Given the description of an element on the screen output the (x, y) to click on. 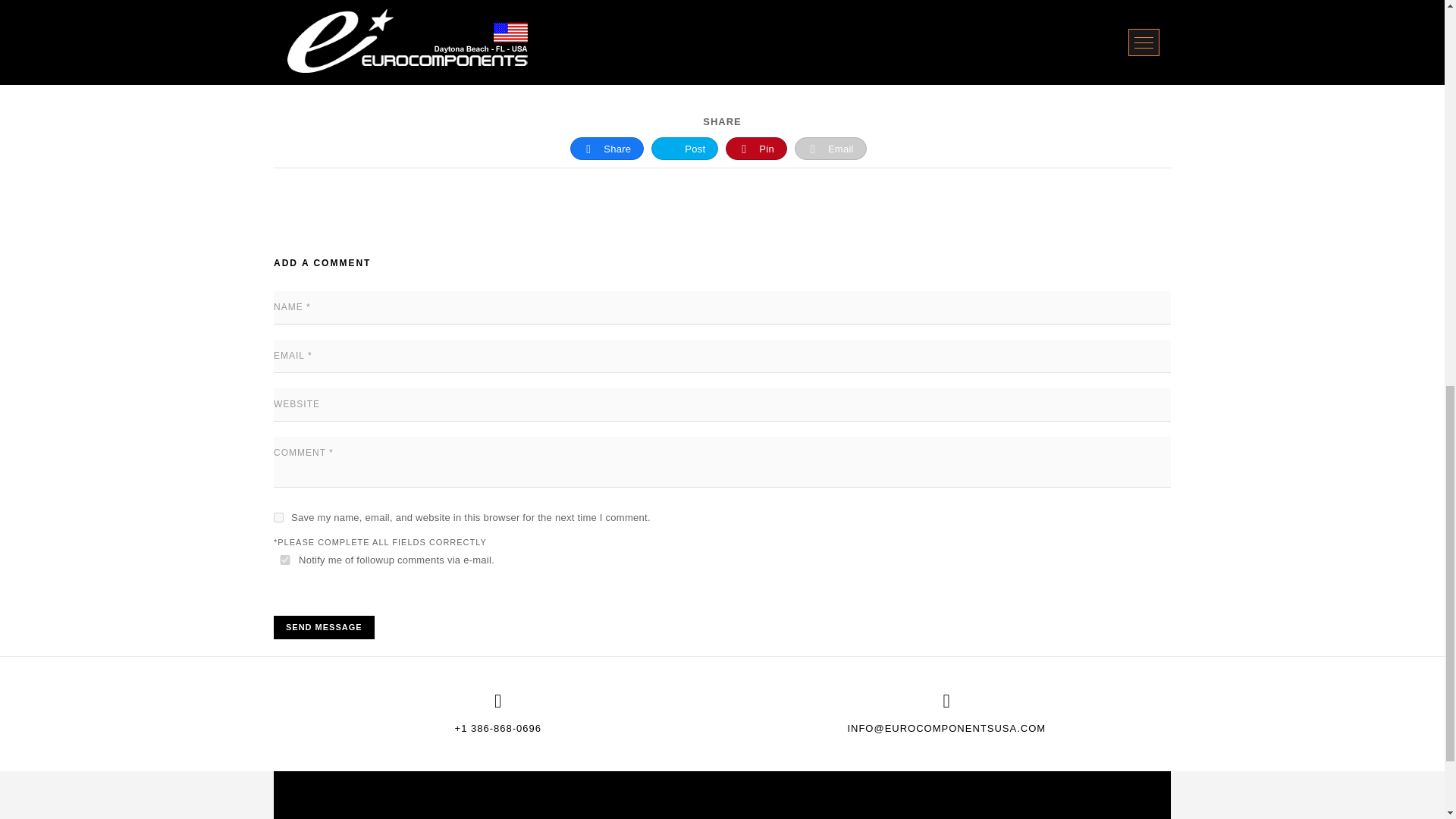
yes (278, 517)
send message (323, 627)
replies (285, 560)
